Given the description of an element on the screen output the (x, y) to click on. 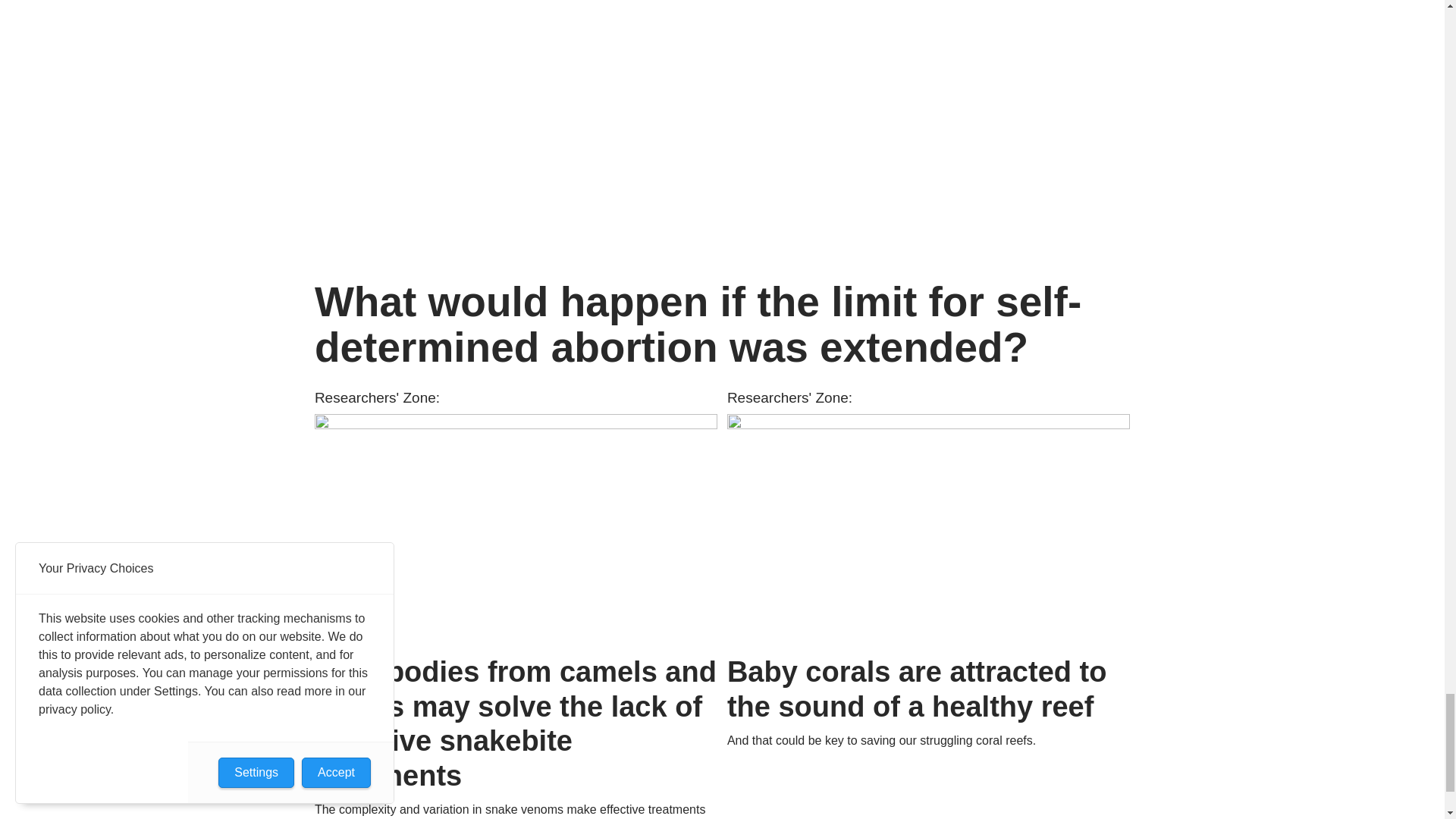
Baby corals are attracted to the sound of a healthy reef (927, 529)
